Given the description of an element on the screen output the (x, y) to click on. 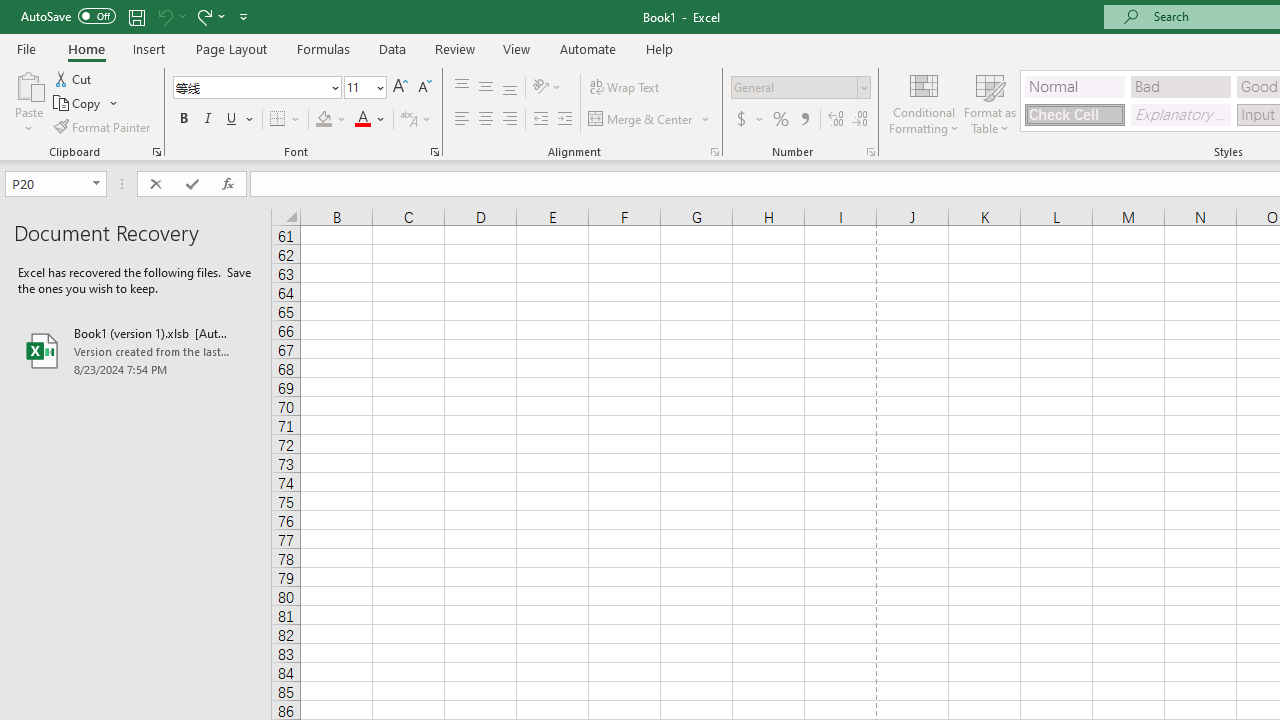
Percent Style (781, 119)
Underline (232, 119)
Fill Color RGB(255, 255, 0) (324, 119)
Show Phonetic Field (408, 119)
Accounting Number Format (749, 119)
Format Cell Alignment (714, 151)
Font Size (358, 87)
Copy (78, 103)
Paste (28, 84)
Bad (1180, 86)
